Given the description of an element on the screen output the (x, y) to click on. 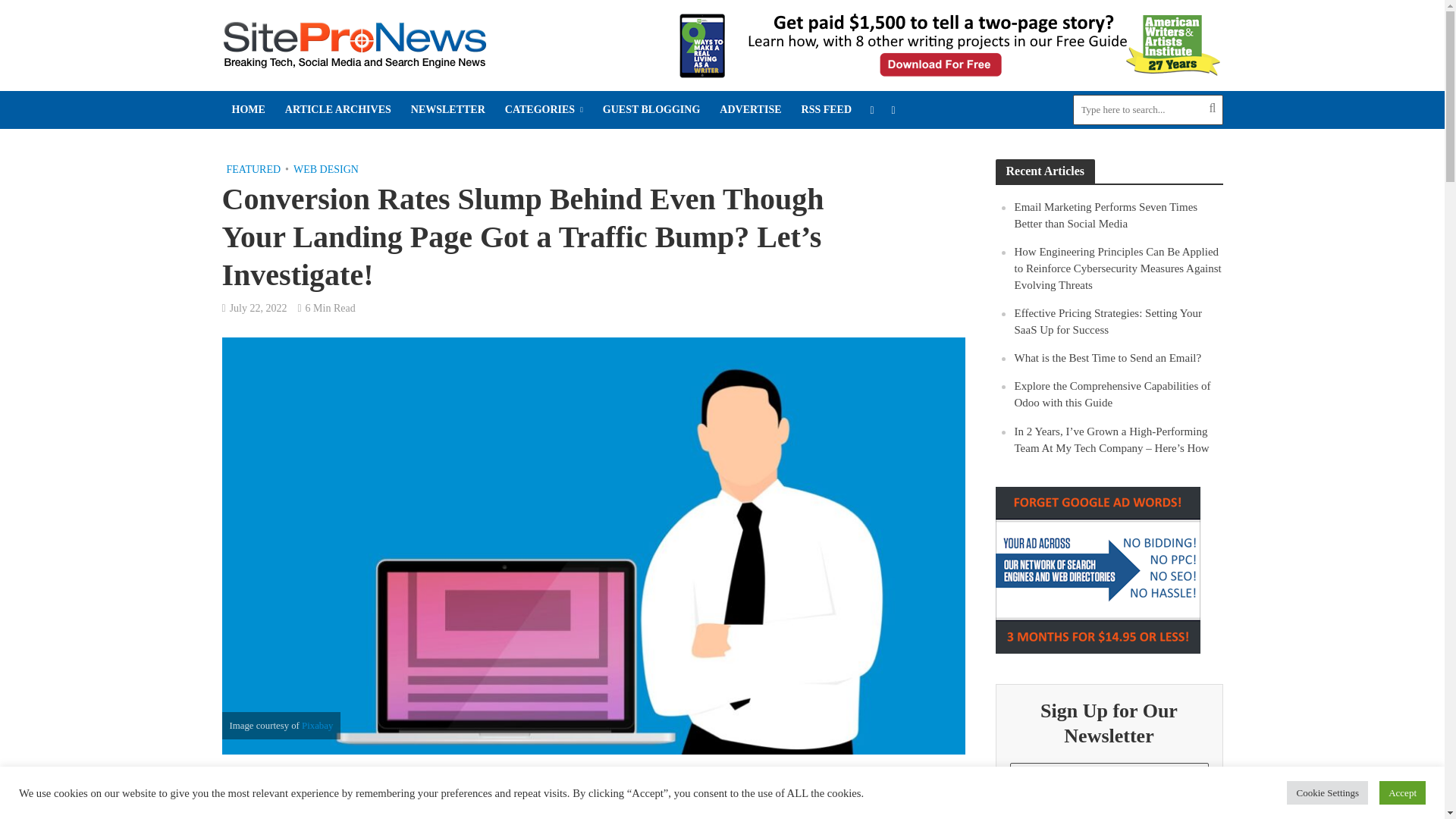
HOME (248, 109)
ADVERTISE (750, 109)
CATEGORIES (543, 109)
GUEST BLOGGING (651, 109)
Forget Google Adwords (1096, 569)
Subscribe (1108, 812)
Your email address here (1109, 777)
NEWSLETTER (448, 109)
RSS FEED (826, 109)
ARTICLE ARCHIVES (338, 109)
